Given the description of an element on the screen output the (x, y) to click on. 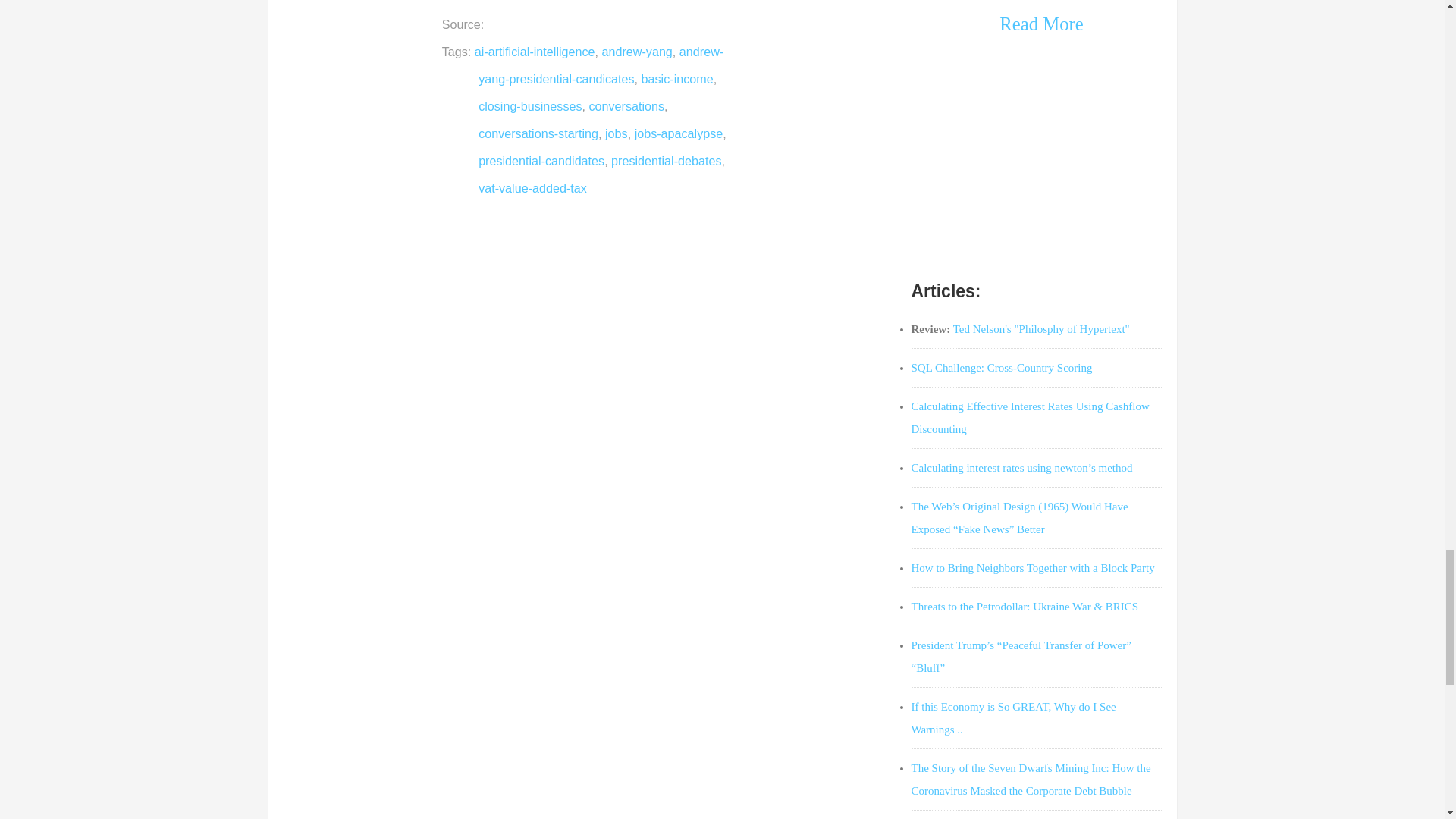
conversations (625, 106)
SQL Challenge: Cross-Country Scoring (1002, 367)
vat-value-added-tax (532, 187)
presidential-candidates (541, 160)
closing-businesses (529, 106)
basic-income (677, 78)
jobs (616, 133)
andrew-yang (637, 51)
conversations-starting (538, 133)
Ted Nelson's "Philosphy of Hypertext" (1041, 328)
presidential-debates (665, 160)
jobs-apacalypse (678, 133)
Read More (1040, 23)
ai-artificial-intelligence (534, 51)
